Given the description of an element on the screen output the (x, y) to click on. 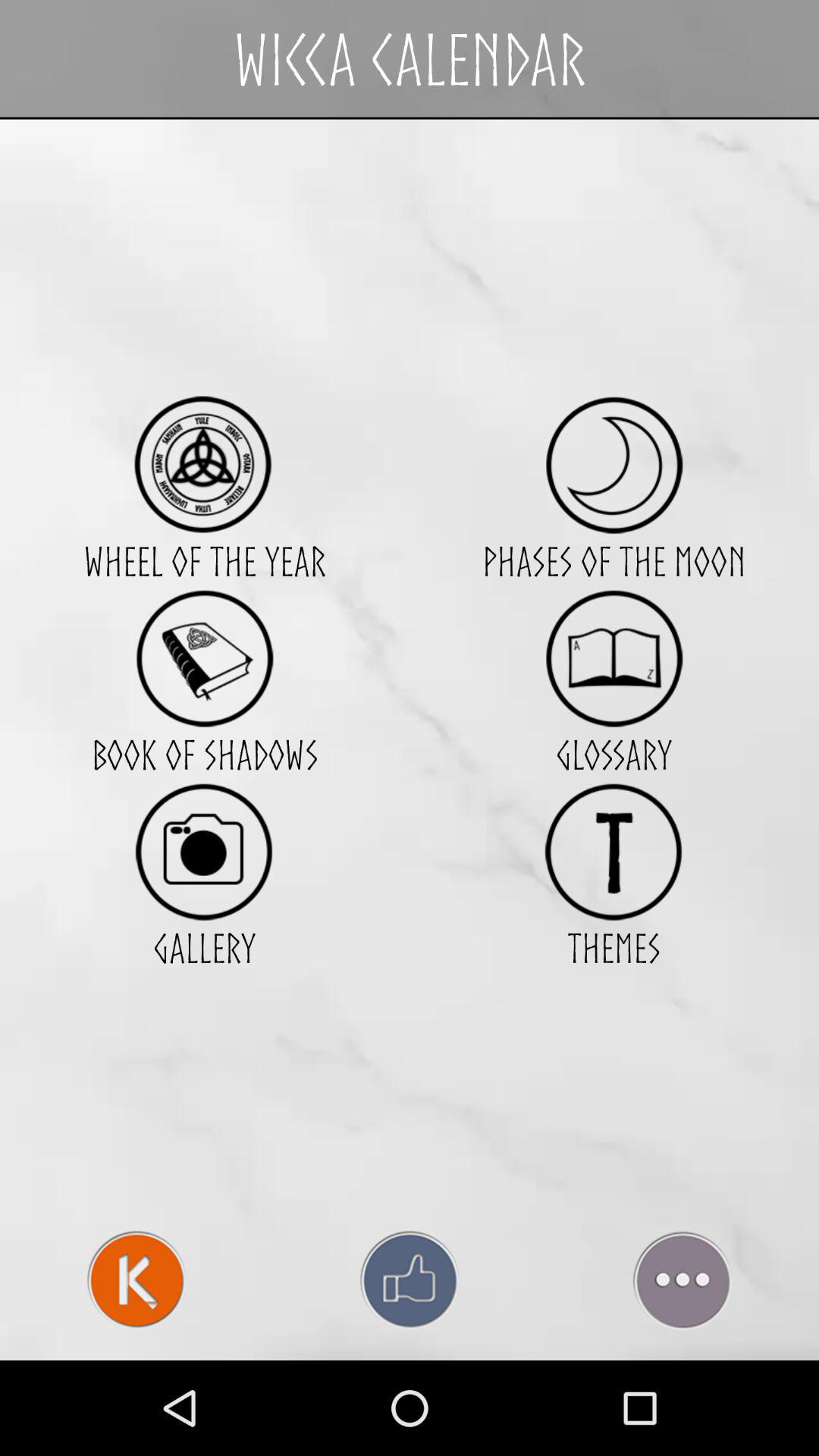
like page (409, 1280)
